Given the description of an element on the screen output the (x, y) to click on. 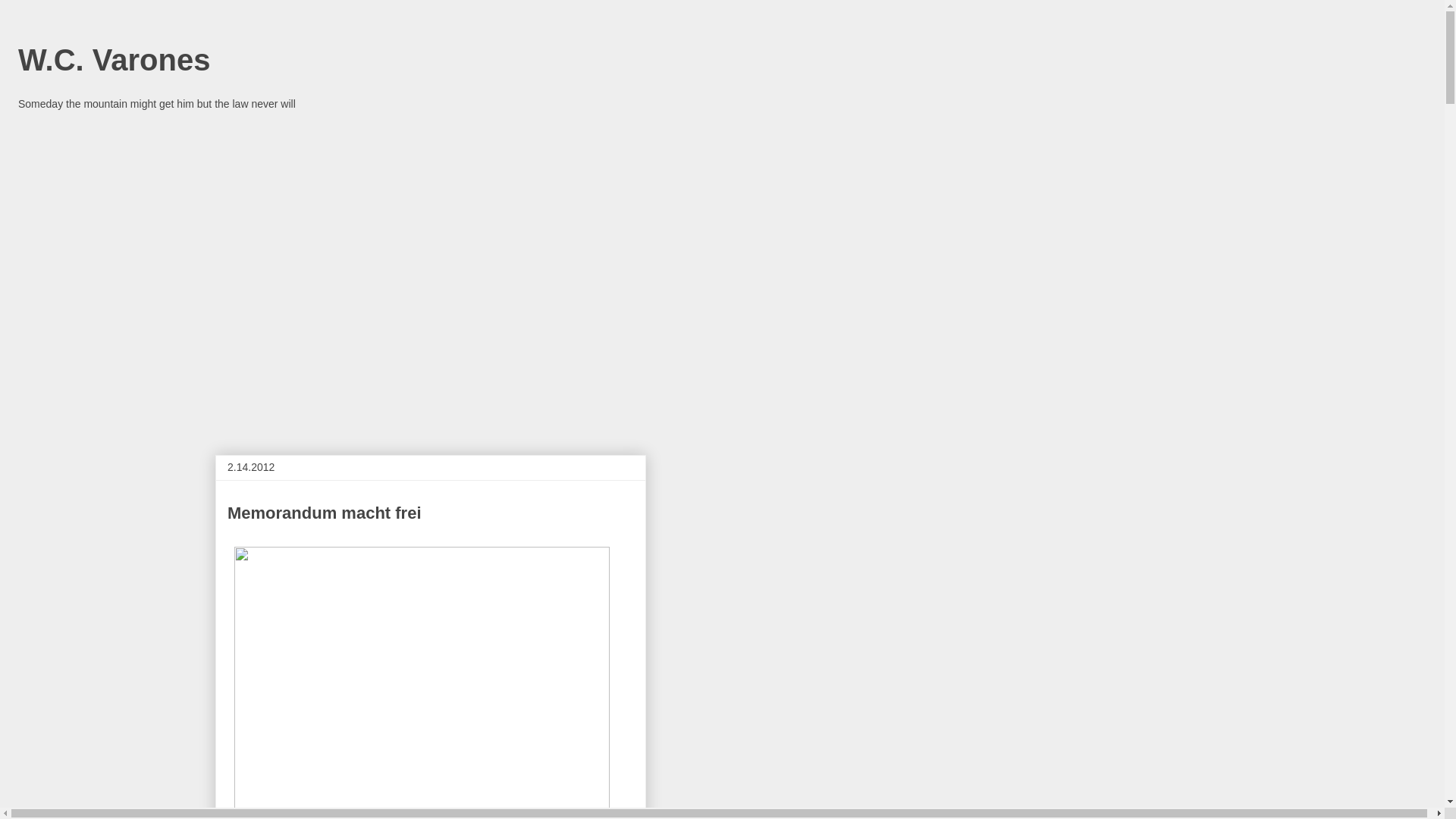
W.C. Varones (113, 59)
